Given the description of an element on the screen output the (x, y) to click on. 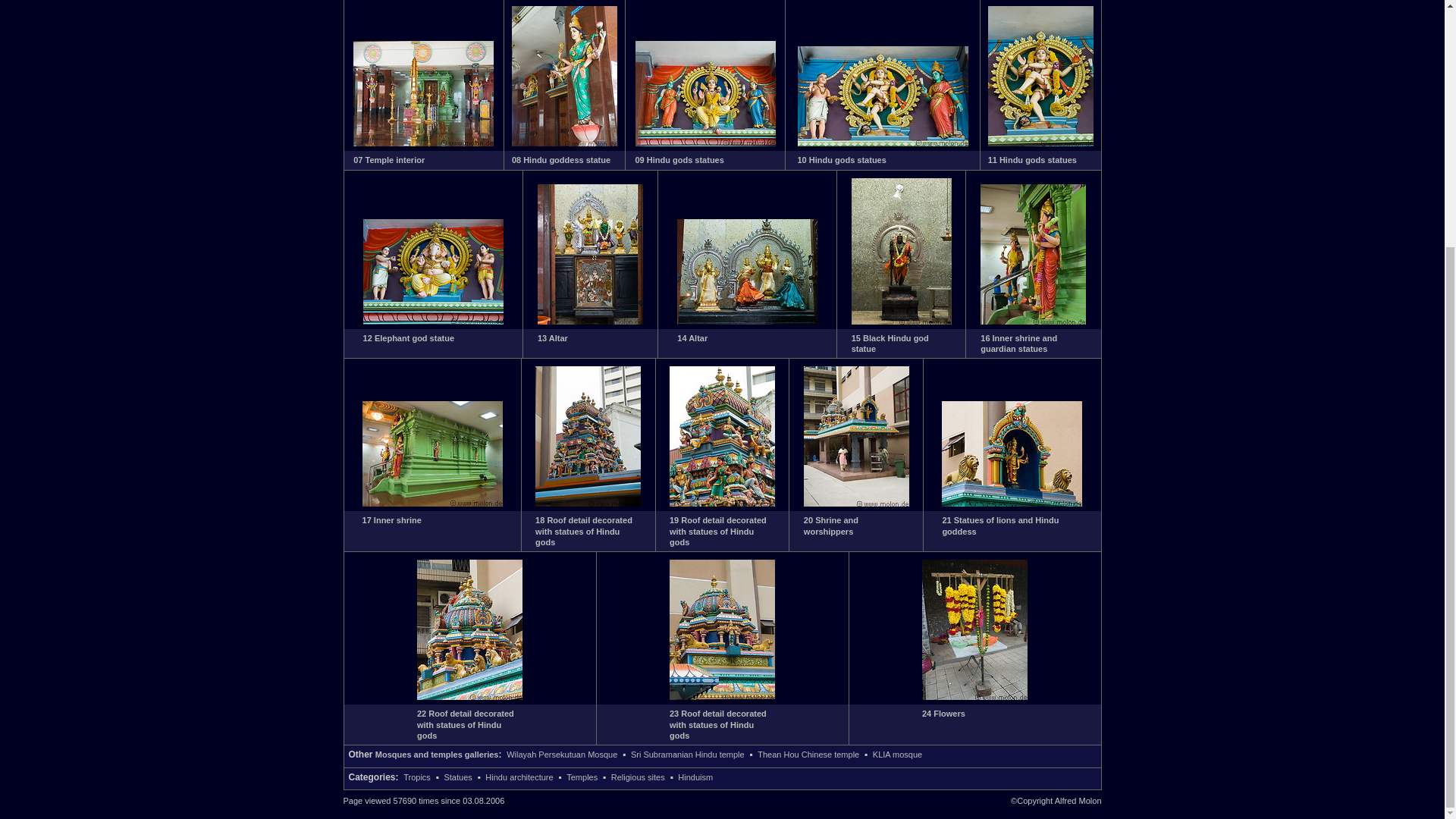
12 Elephant god statue (408, 338)
Image MA25060 - click to enlarge (590, 320)
Image MA25056 - click to enlarge (705, 143)
Image MA25055 - click to enlarge (564, 143)
Image MA25063 - click to enlarge (1032, 320)
Image MA25064 - click to enlarge (432, 502)
Image MA25054 - click to enlarge (423, 143)
10 Hindu gods statues (841, 159)
07 Temple interior (389, 159)
Image MA25058 - click to enlarge (1040, 143)
08 Hindu goddess statue (561, 159)
Image MA25062 - click to enlarge (901, 320)
Image MA25057 - click to enlarge (882, 143)
09 Hindu gods statues (678, 159)
Image MA25061 - click to enlarge (746, 320)
